Given the description of an element on the screen output the (x, y) to click on. 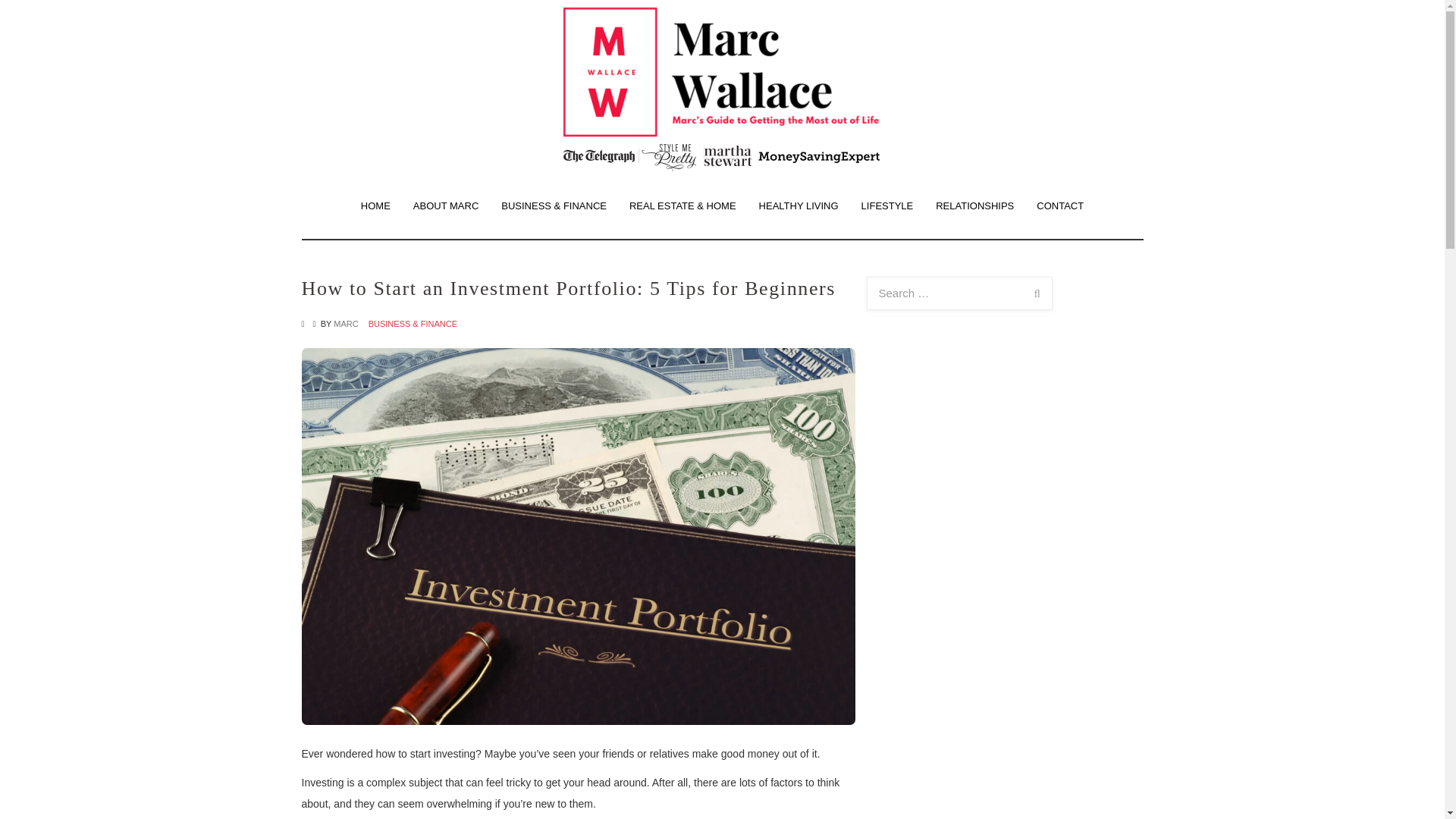
ABOUT MARC (445, 206)
MARC (345, 323)
LIFESTYLE (887, 206)
RELATIONSHIPS (974, 206)
CONTACT (1059, 206)
HEALTHY LIVING (799, 206)
HOME (375, 206)
